Given the description of an element on the screen output the (x, y) to click on. 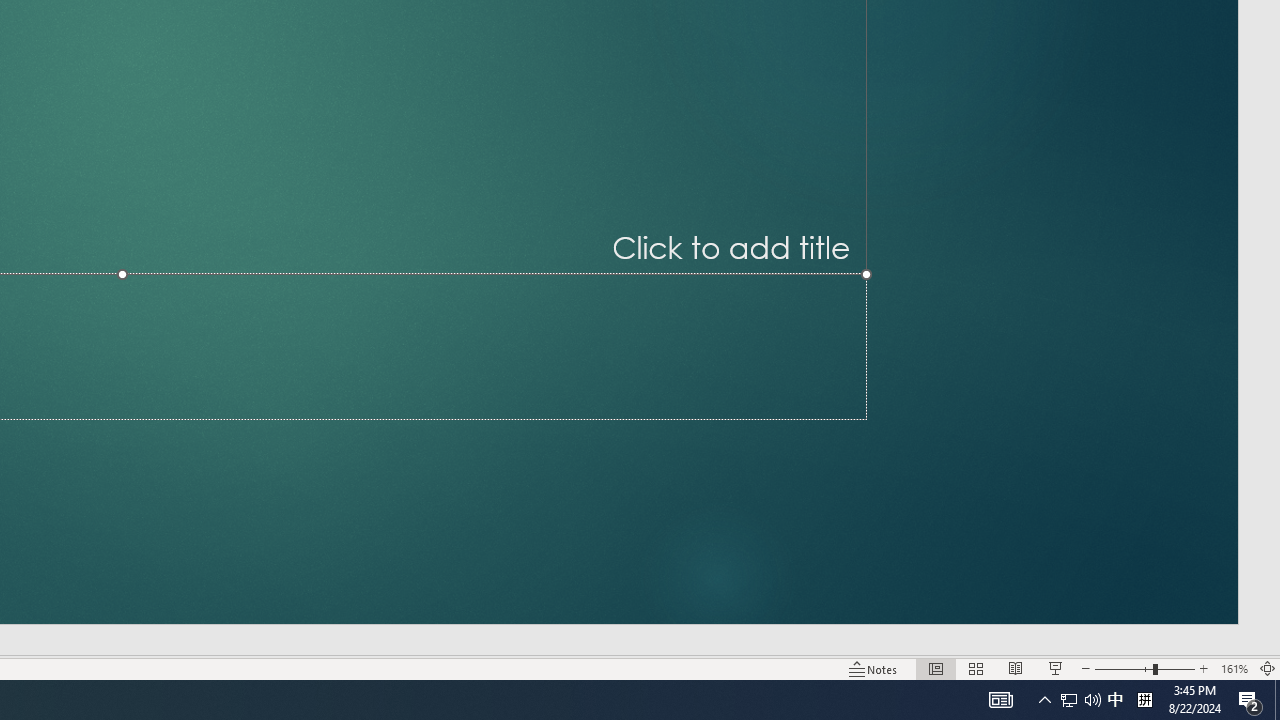
Zoom 161% (1234, 668)
